Given the description of an element on the screen output the (x, y) to click on. 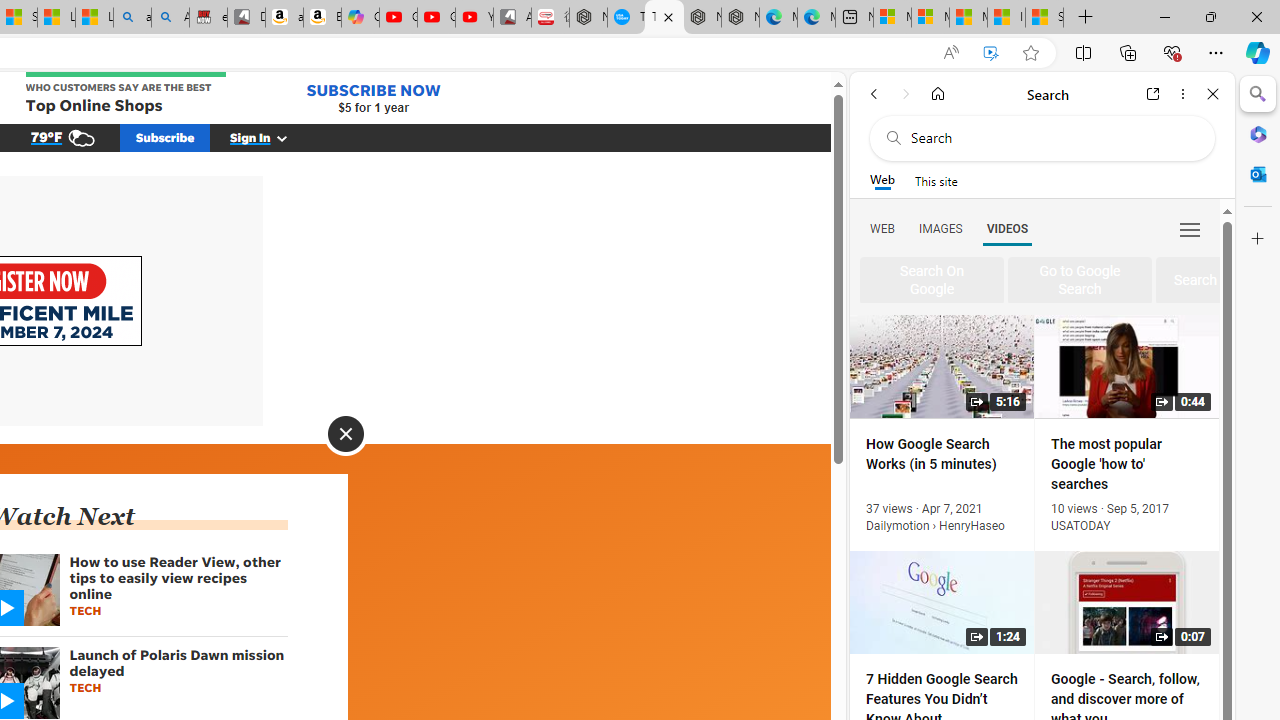
Copilot (359, 17)
Sign In (270, 137)
Class: gnt_n_us_a_svg (278, 137)
SUBSCRIBE NOW $5 for 1 year (373, 97)
Preferences (1189, 228)
